Given the description of an element on the screen output the (x, y) to click on. 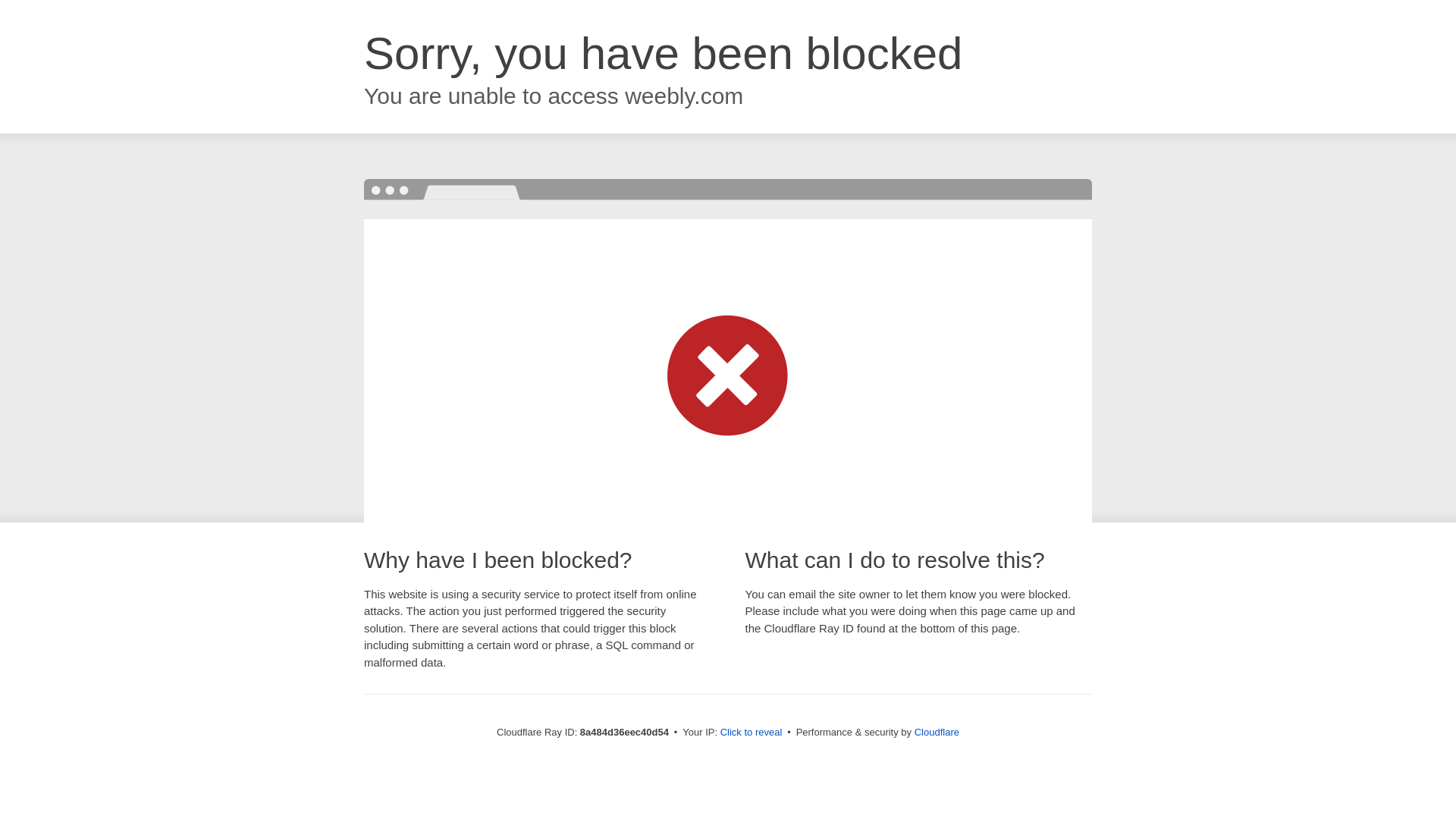
Click to reveal (751, 732)
Cloudflare (936, 731)
